Given the description of an element on the screen output the (x, y) to click on. 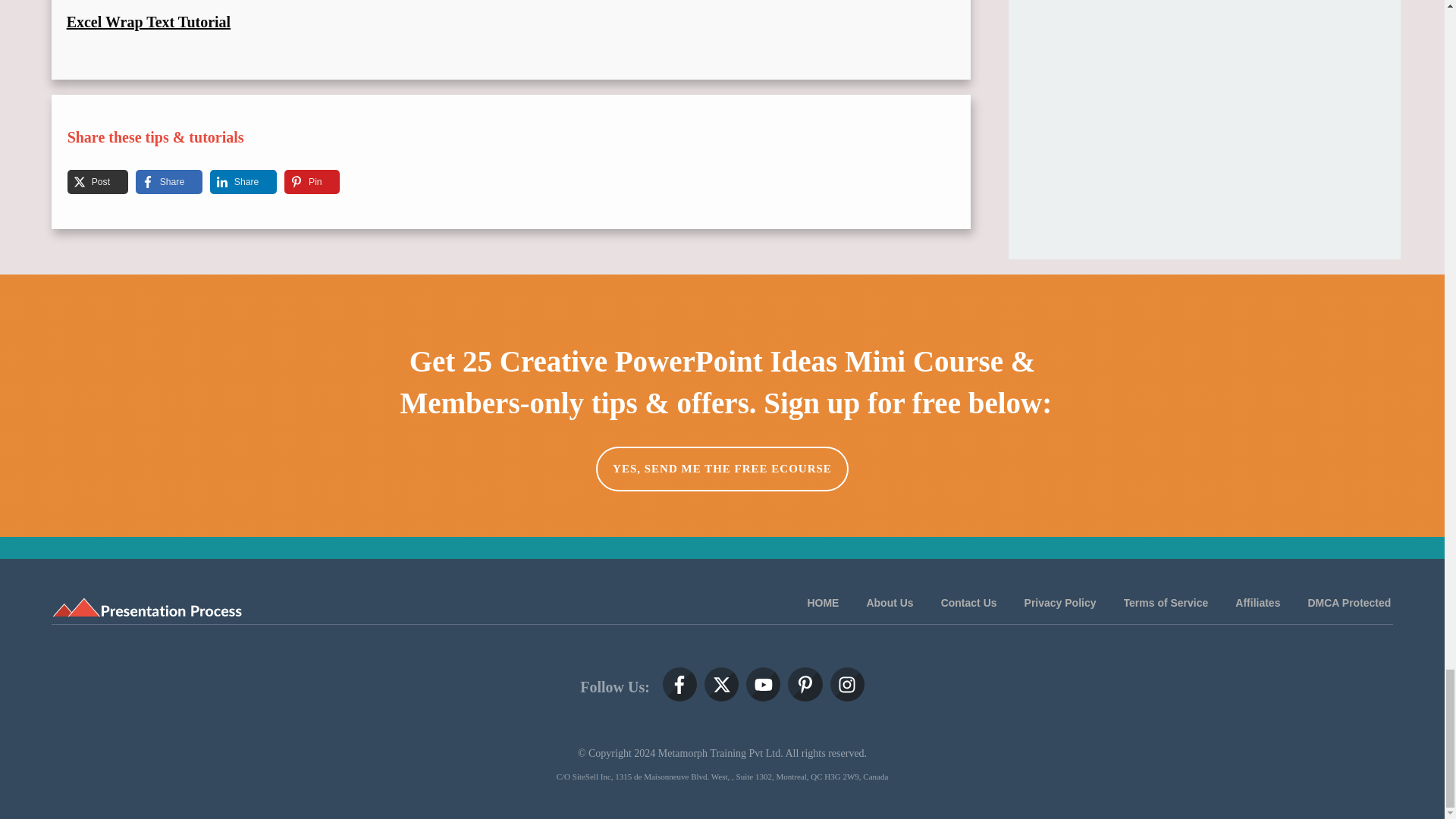
Pin (302, 181)
Share (159, 181)
Post (88, 181)
Excel Wrap Text Tutorial (148, 21)
Share (234, 181)
